Given the description of an element on the screen output the (x, y) to click on. 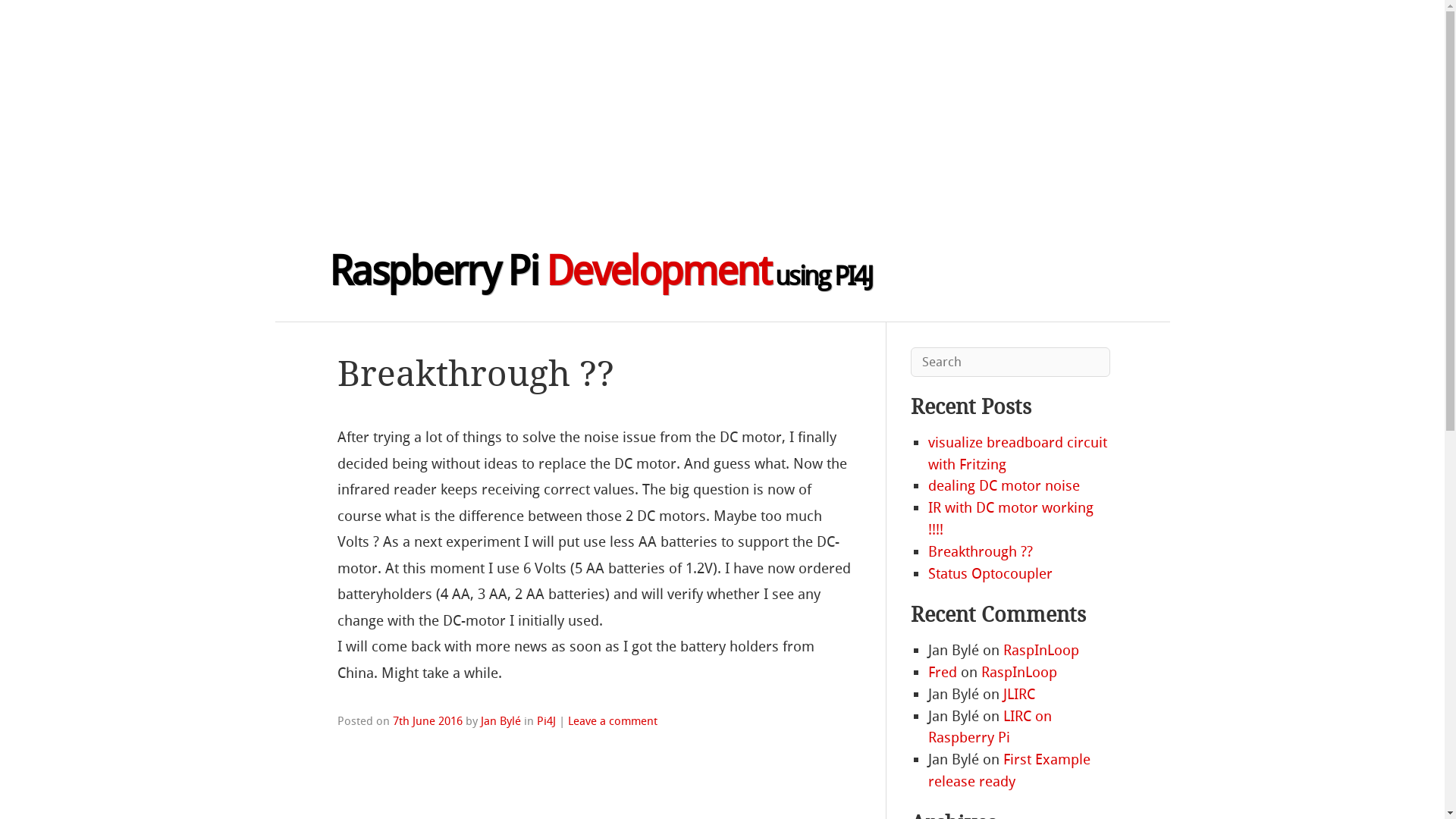
IR with DC motor working !!!! Element type: text (1010, 518)
Search Element type: text (45, 17)
RaspInLoop Element type: text (1041, 649)
LIRC on Raspberry Pi Element type: text (989, 726)
7th June 2016 Element type: text (427, 721)
Leave a comment Element type: text (612, 721)
Raspberry Pi Development using PI4J Element type: text (600, 271)
RaspInLoop Element type: text (1019, 671)
JLIRC Element type: text (1019, 693)
visualize breadboard circuit with Fritzing Element type: text (1017, 453)
First Example release ready Element type: text (1009, 770)
Status Optocoupler Element type: text (990, 573)
Pi4J Element type: text (545, 721)
Breakthrough ?? Element type: text (980, 551)
dealing DC motor noise Element type: text (1003, 485)
Advertisement Element type: hover (455, 106)
Fred Element type: text (942, 671)
